Given the description of an element on the screen output the (x, y) to click on. 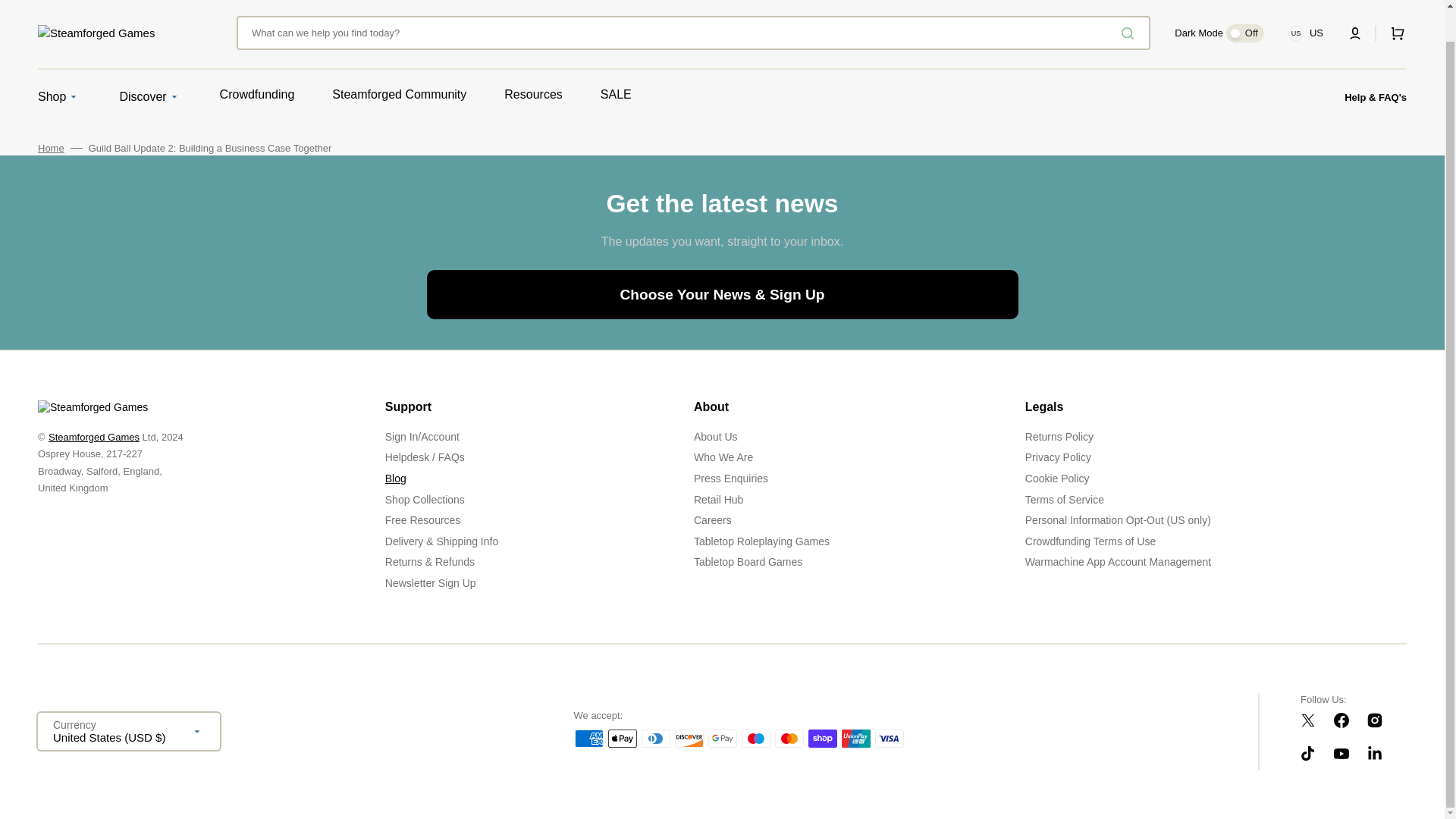
Steamforged Community (398, 94)
Crowdfunding (257, 94)
Discover (142, 96)
Shop (51, 96)
Home (50, 148)
SALE (615, 94)
Resources (532, 94)
